Given the description of an element on the screen output the (x, y) to click on. 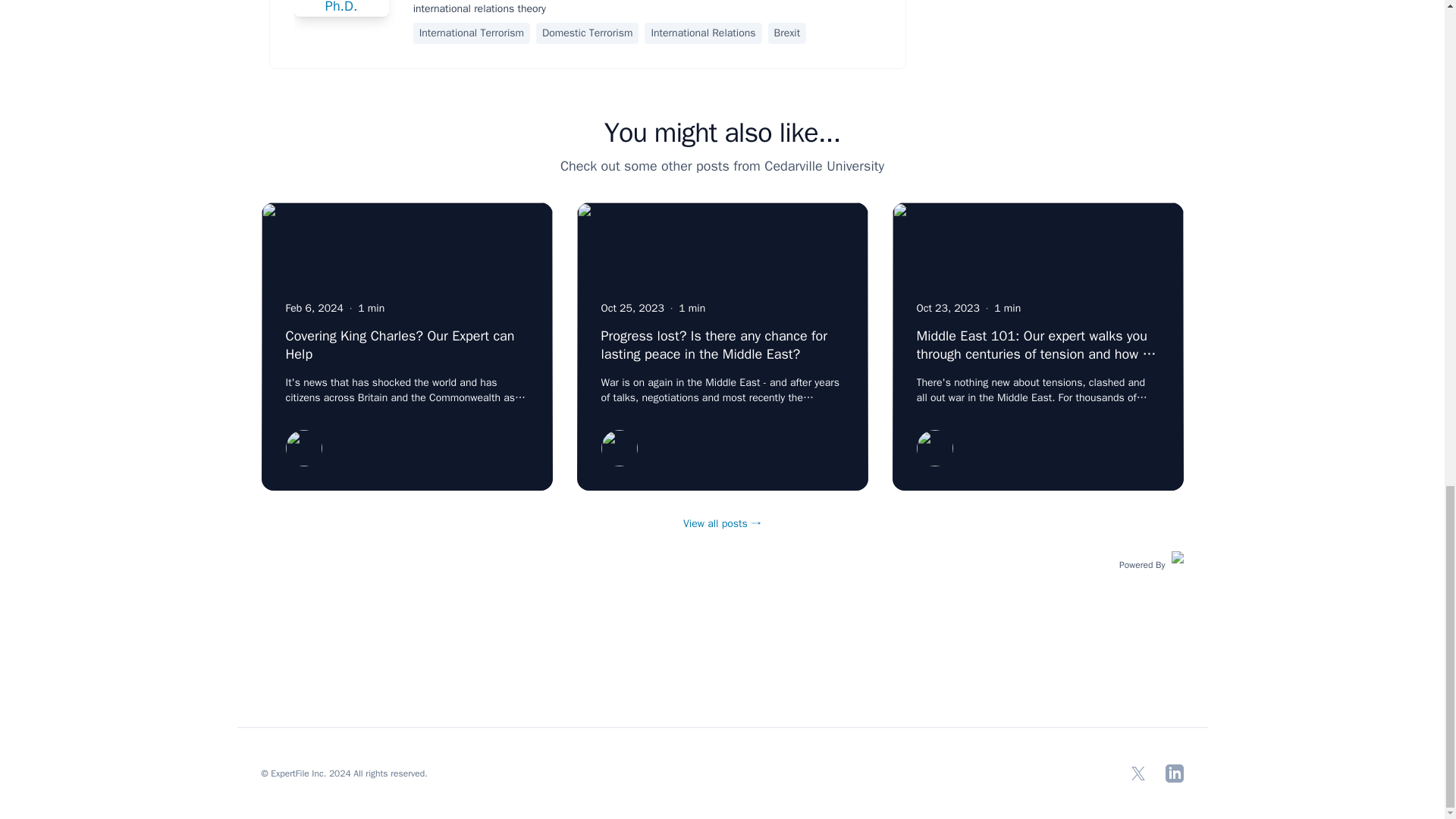
X (1137, 773)
Powered By (1150, 563)
LinkedIn (1173, 773)
Covering King Charles? Our Expert can Help (399, 344)
